Given the description of an element on the screen output the (x, y) to click on. 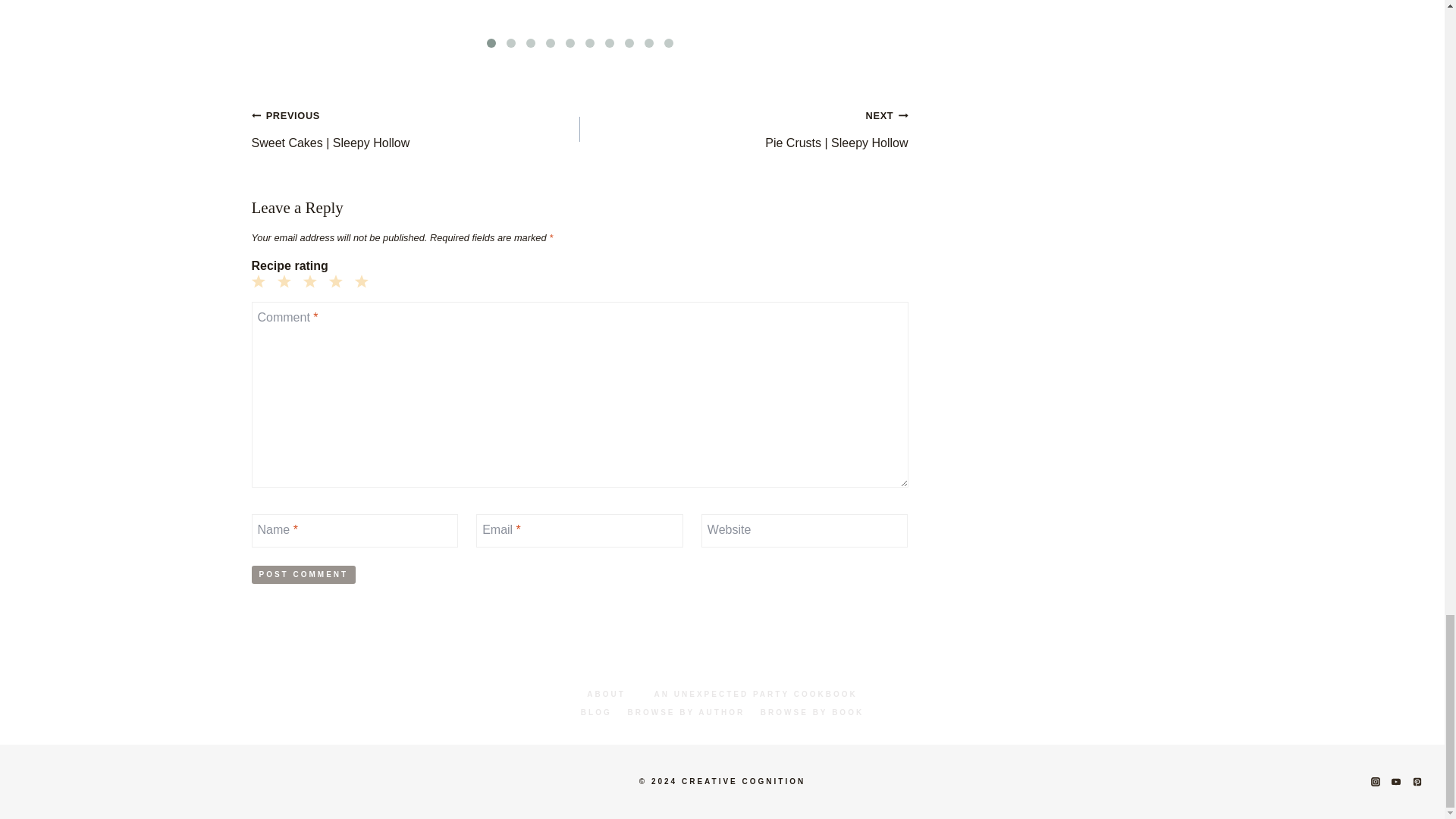
Post Comment (303, 574)
